Given the description of an element on the screen output the (x, y) to click on. 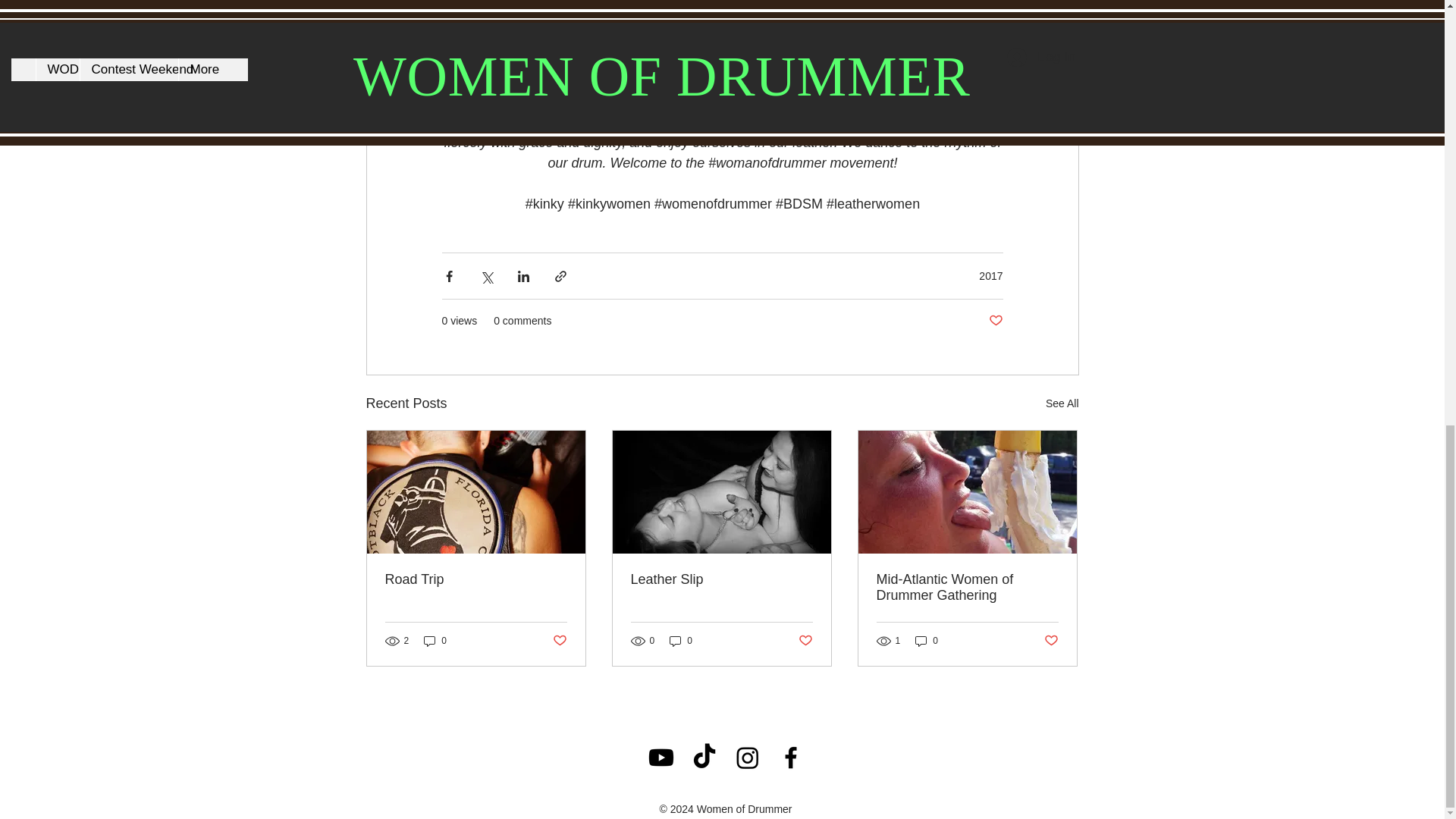
Mid-Atlantic Women of Drummer Gathering (967, 587)
2017 (990, 275)
Leather Slip (721, 579)
See All (1061, 403)
0 (435, 640)
0 (681, 640)
Post not marked as liked (558, 640)
Road Trip (476, 579)
Post not marked as liked (995, 320)
Post not marked as liked (804, 640)
